Given the description of an element on the screen output the (x, y) to click on. 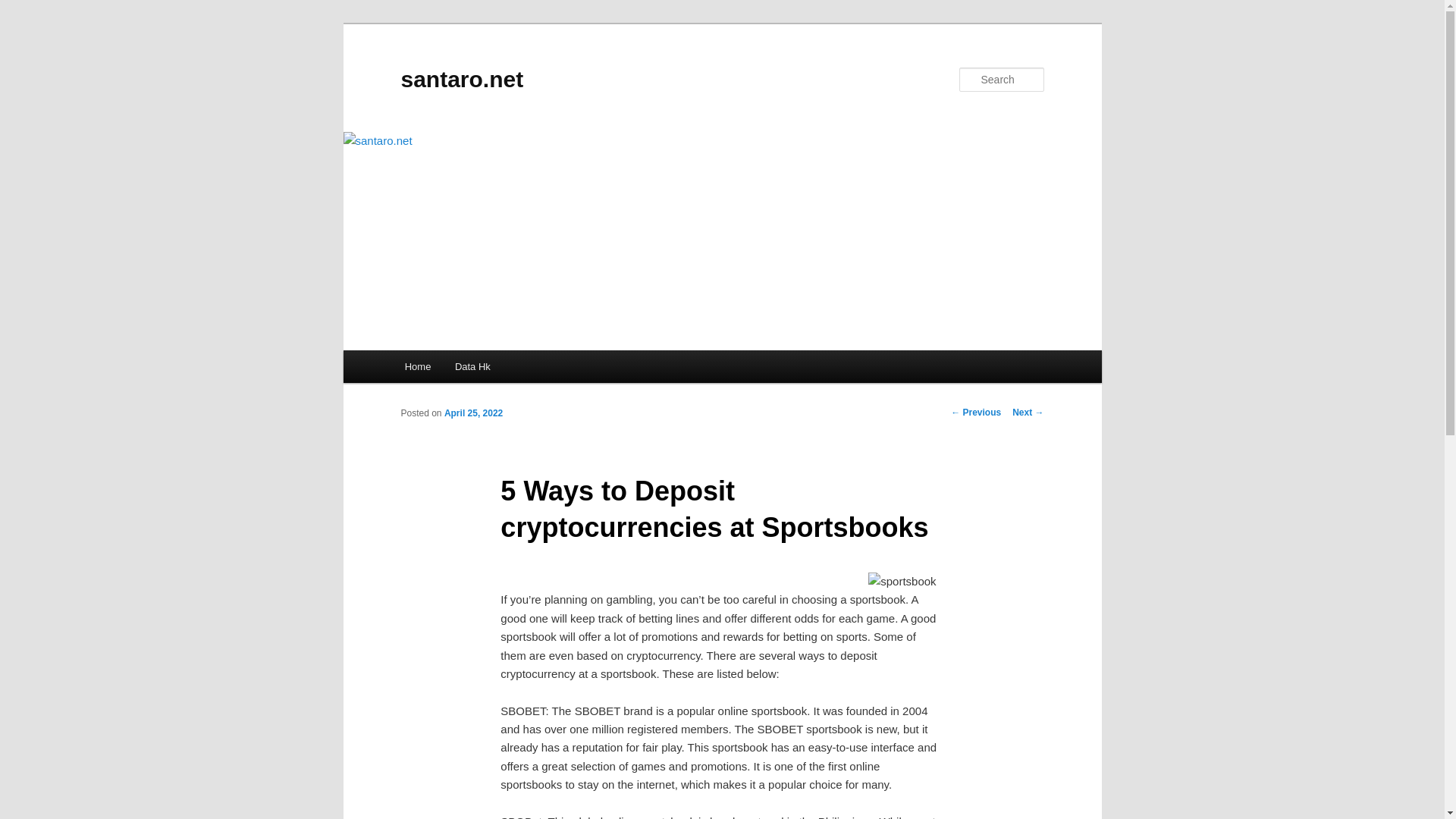
santaro.net (461, 78)
Home (417, 366)
Data Hk (472, 366)
Search (24, 8)
3:18 am (473, 412)
April 25, 2022 (473, 412)
